Given the description of an element on the screen output the (x, y) to click on. 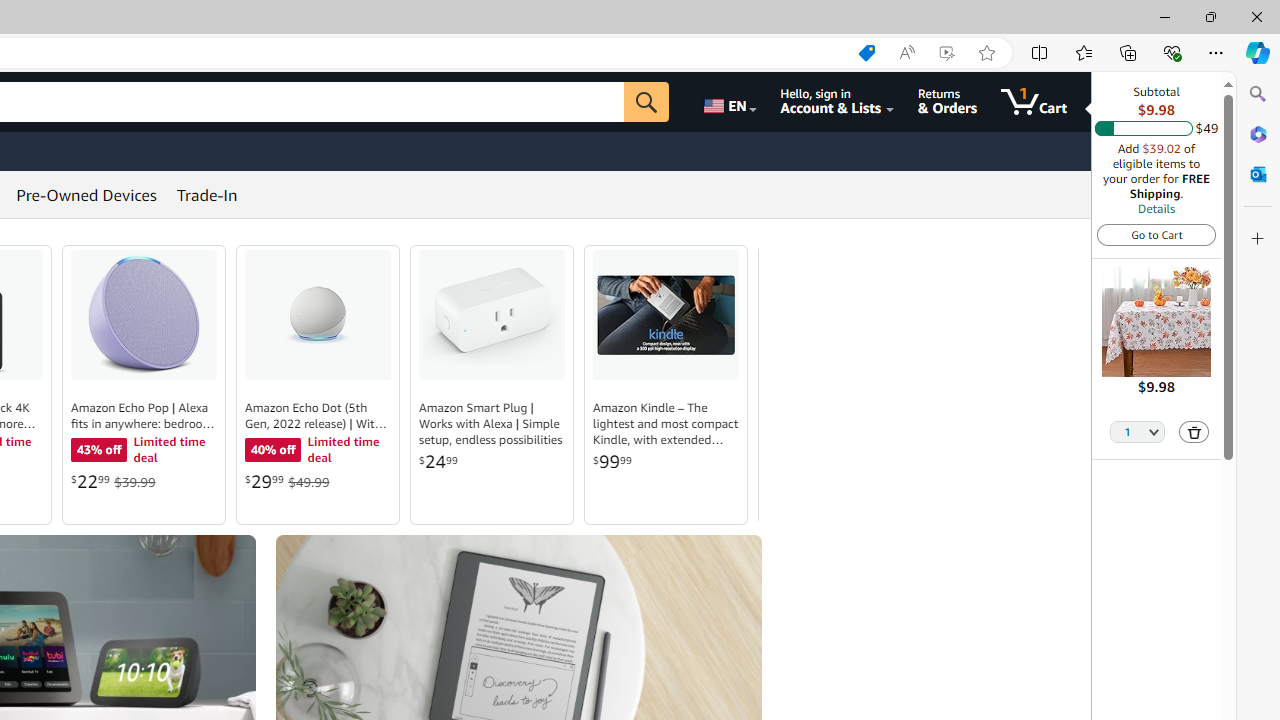
Choose a language for shopping. (728, 101)
Trade-In (207, 194)
Returns & Orders (946, 101)
Pre-Owned Devices (86, 194)
Delete (1193, 431)
